Given the description of an element on the screen output the (x, y) to click on. 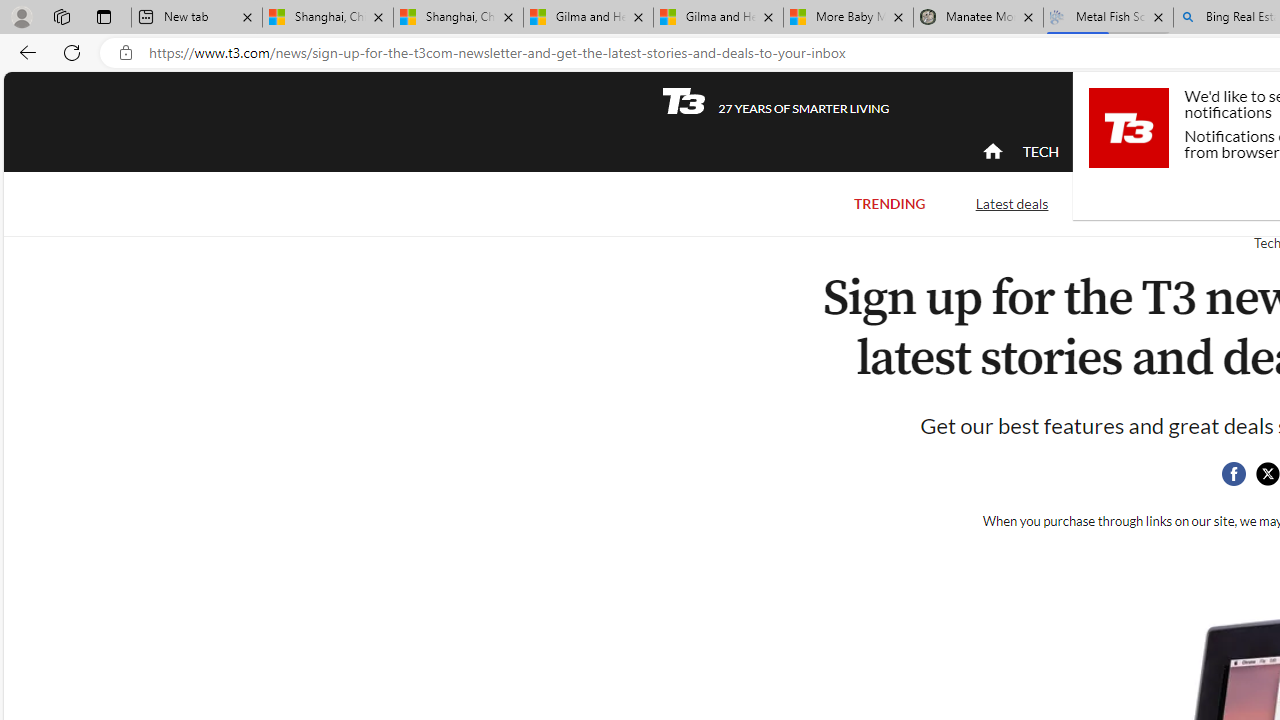
Latest deals (1011, 202)
Class: icon-svg (1267, 474)
Class: social__item (1238, 477)
ACTIVE (1124, 151)
Latest deals (1011, 204)
Share this page on Facebook (1233, 474)
T3 27 YEARS OF SMARTER LIVING (775, 101)
Back to Class 2024 (1178, 202)
Gilma and Hector both pose tropical trouble for Hawaii (718, 17)
Manatee Mortality Statistics | FWC (978, 17)
Shanghai, China weather forecast | Microsoft Weather (458, 17)
